Given the description of an element on the screen output the (x, y) to click on. 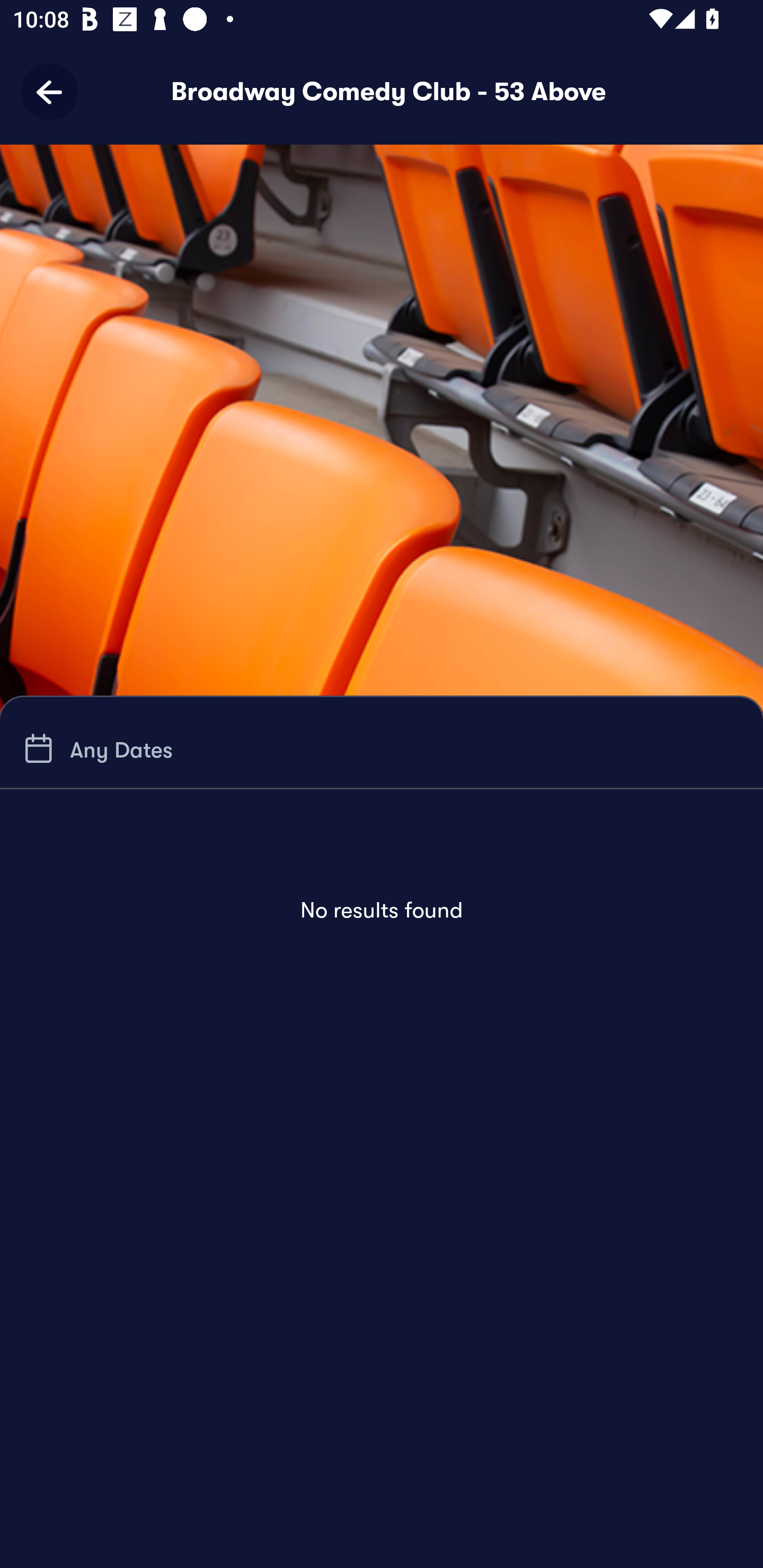
Any Dates (95, 749)
